Given the description of an element on the screen output the (x, y) to click on. 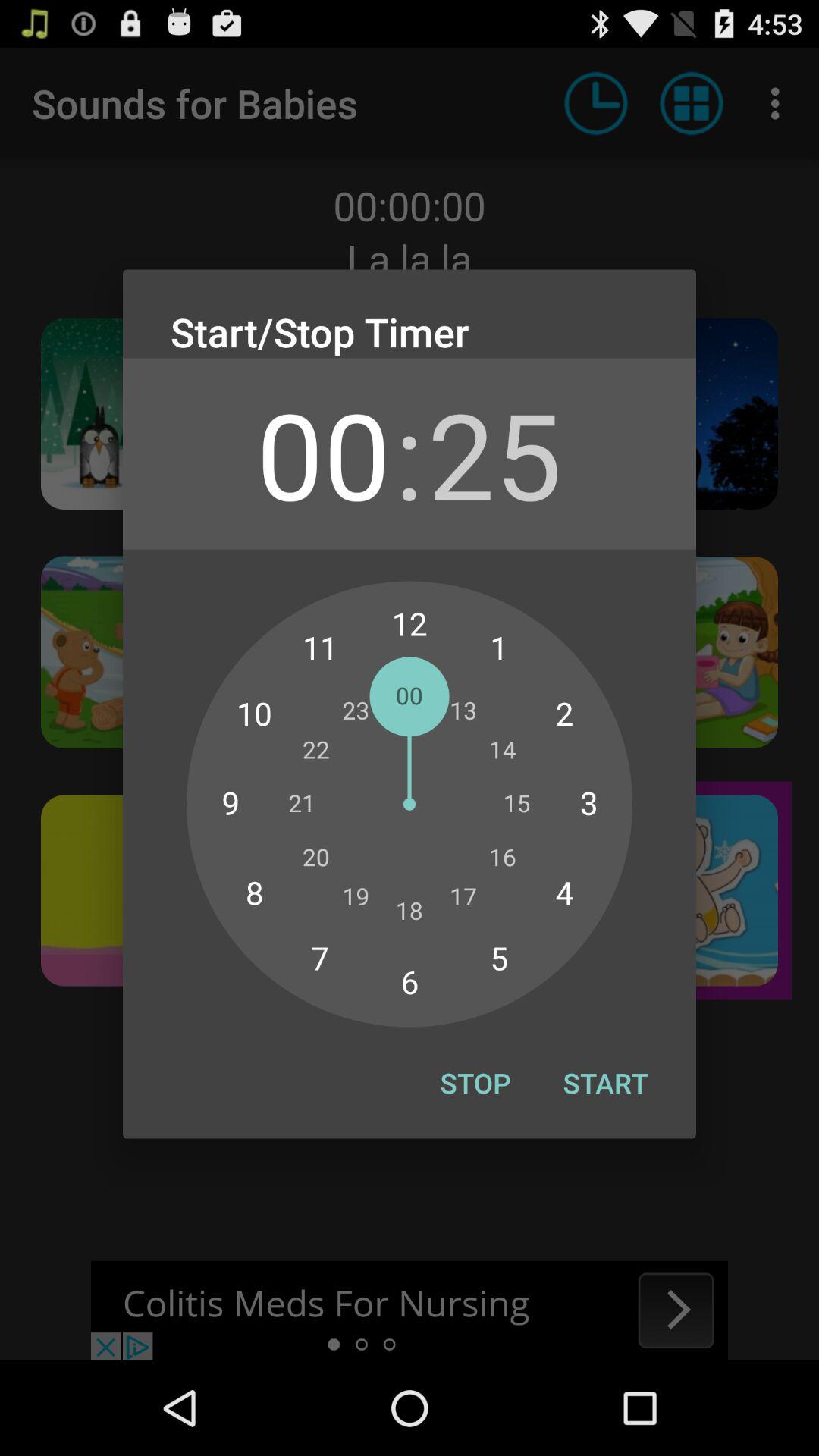
choose app next to the : (323, 453)
